Given the description of an element on the screen output the (x, y) to click on. 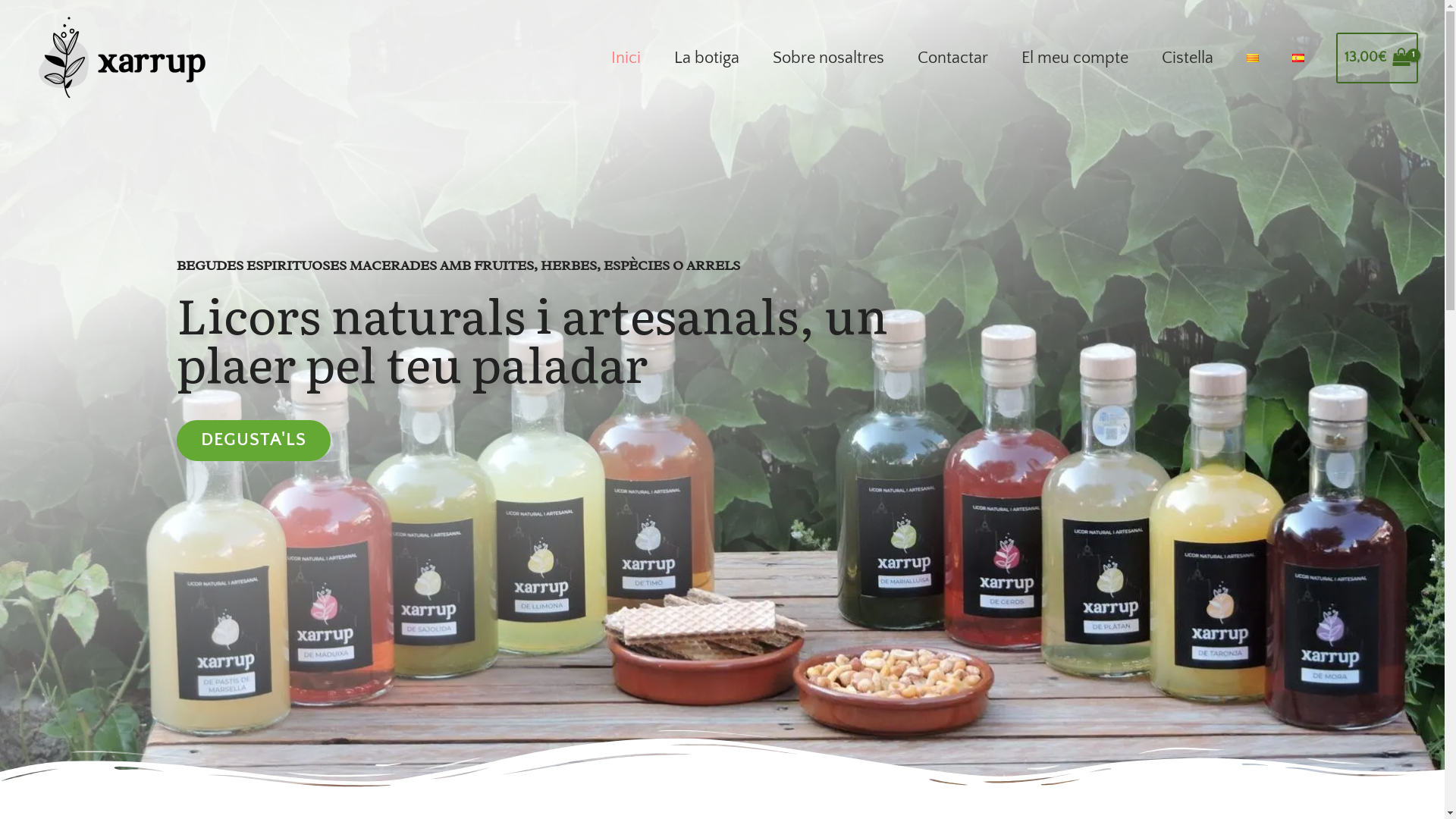
Inici Element type: text (625, 57)
El meu compte Element type: text (1074, 57)
Cistella Element type: text (1187, 57)
La botiga Element type: text (706, 57)
Sobre nosaltres Element type: text (828, 57)
DEGUSTA'LS Element type: text (252, 440)
Contactar Element type: text (952, 57)
